Given the description of an element on the screen output the (x, y) to click on. 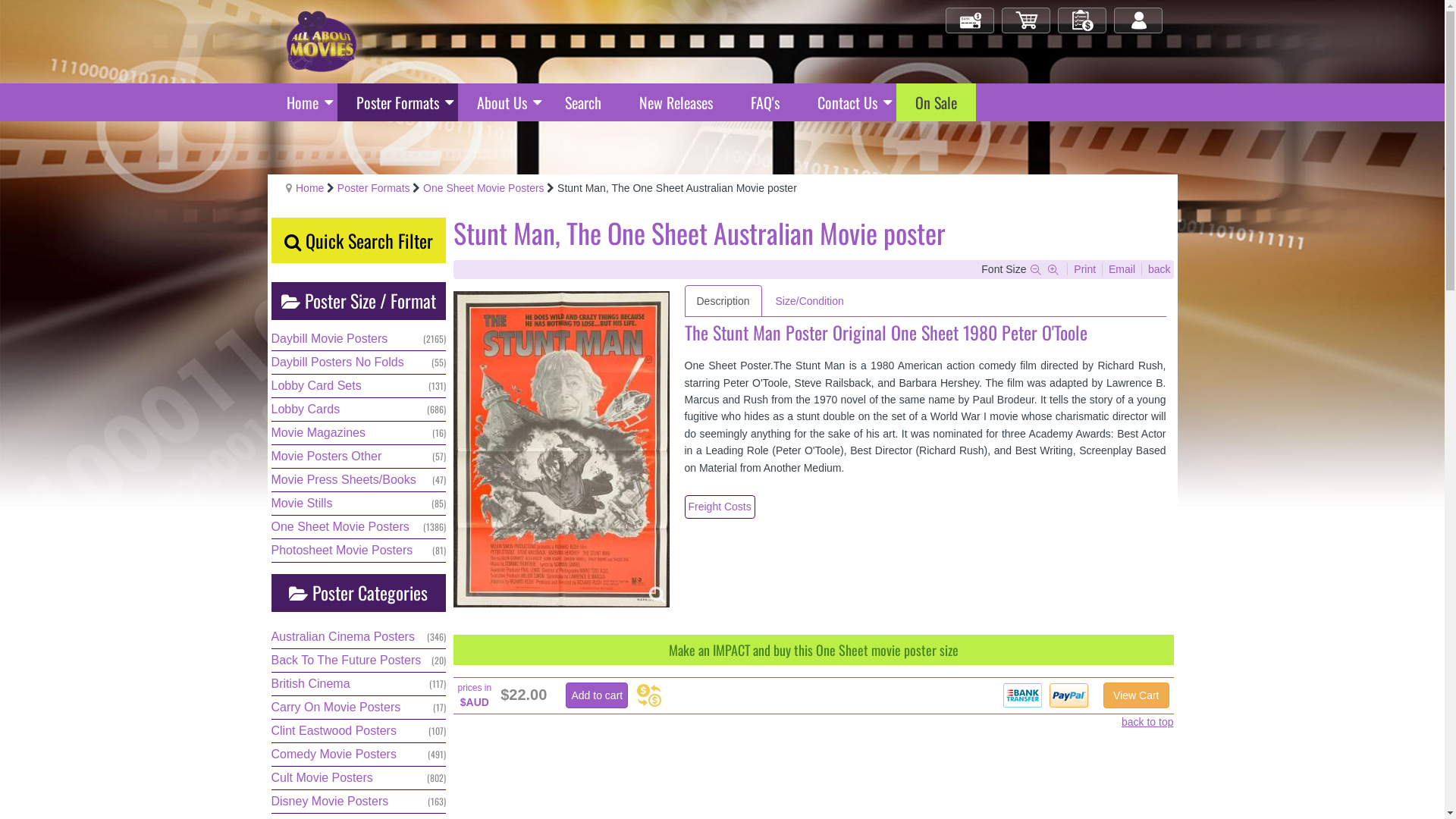
Comedy Movie Posters
(491) Element type: text (358, 754)
Cult Movie Posters
(802) Element type: text (358, 777)
Currency Converter Element type: hover (649, 695)
Poster Formats Element type: text (373, 188)
Lobby Cards
(686) Element type: text (358, 409)
Carry On Movie Posters
(17) Element type: text (358, 707)
Movie Posters Other
(57) Element type: text (358, 456)
New Releases Element type: text (675, 102)
Movie Magazines
(16) Element type: text (358, 432)
Print Element type: text (1085, 269)
Clint Eastwood Posters
(107) Element type: text (358, 730)
Movie Press Sheets/Books
(47) Element type: text (358, 479)
Email Element type: text (1123, 269)
My Cart Element type: text (1026, 21)
Disney Movie Posters
(163) Element type: text (358, 801)
One Sheet Movie Posters
(1386) Element type: text (358, 526)
Add to cart Element type: text (596, 695)
Daybill Movie Posters
(2165) Element type: text (358, 338)
Description Element type: text (722, 300)
All About Movies - Original Movie Posters Element type: hover (320, 40)
Poster Formats Element type: text (396, 102)
Quick Search Filter Element type: text (358, 240)
Size/Condition Element type: text (809, 300)
Photosheet Movie Posters
(81) Element type: text (358, 550)
On Sale Element type: text (935, 102)
Home Element type: text (309, 188)
About Us Element type: text (502, 102)
Daybill Posters No Folds
(55) Element type: text (358, 362)
back to top Element type: text (1147, 721)
View Cart Element type: text (1135, 695)
Home Element type: text (301, 102)
My Orders Element type: text (1082, 21)
Click for Higher Resolution image Element type: text (561, 449)
Lobby Card Sets
(131) Element type: text (358, 385)
One Sheet Movie Posters Element type: text (483, 188)
Australian Cinema Posters
(346) Element type: text (358, 636)
Log in/out Element type: text (1138, 21)
FAQ's Element type: text (764, 102)
Movie Stills
(85) Element type: text (358, 503)
Check Out Element type: text (970, 21)
Freight Costs Element type: text (719, 506)
Contact Us Element type: text (846, 102)
back Element type: text (1159, 269)
Back To The Future Posters
(20) Element type: text (358, 660)
Search Element type: text (583, 102)
British Cinema
(117) Element type: text (358, 683)
